Given the description of an element on the screen output the (x, y) to click on. 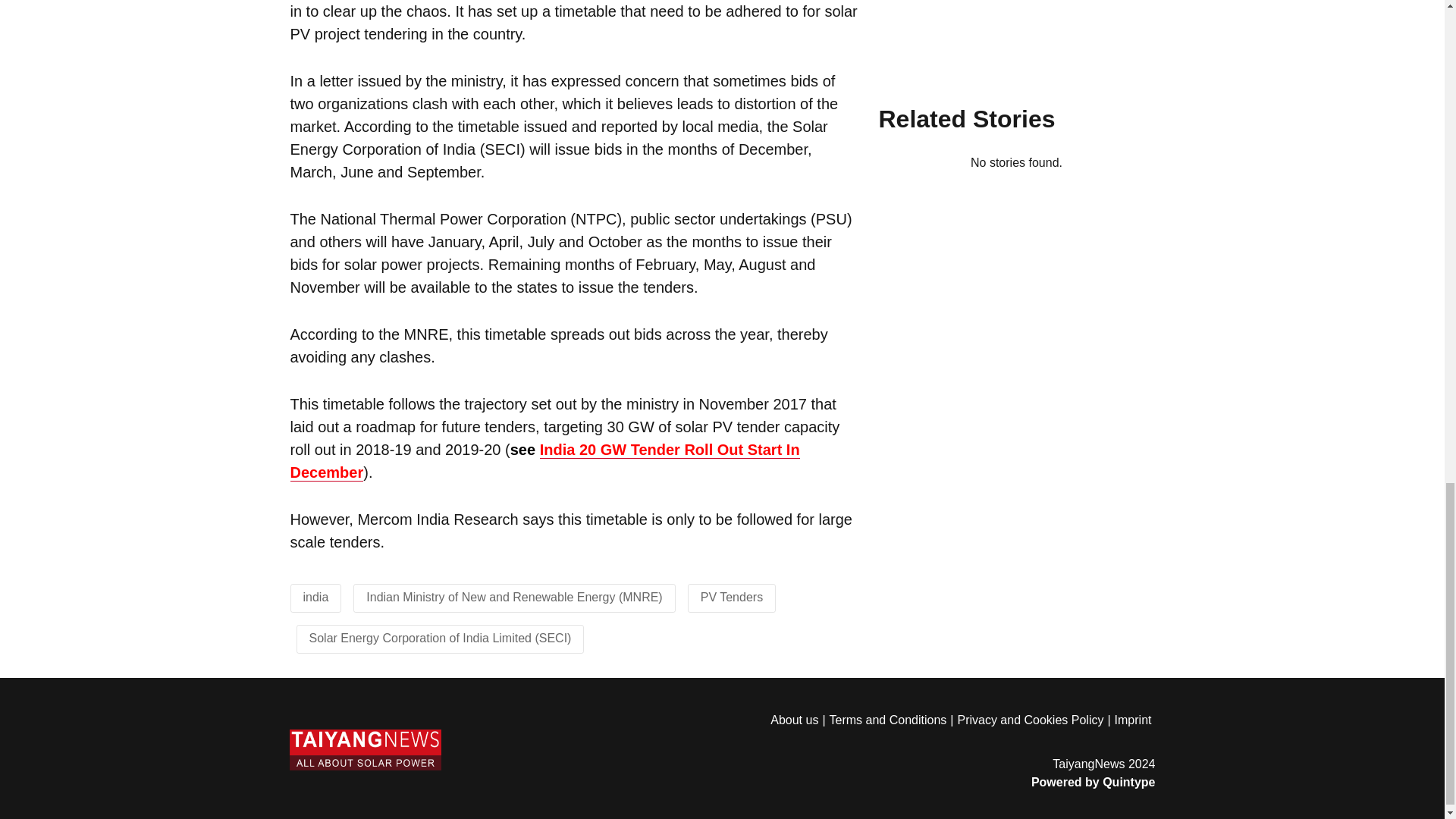
Powered by Quintype (962, 782)
Privacy and Cookies Policy (1034, 720)
About us (799, 720)
Imprint (1135, 720)
india (315, 596)
PV Tenders (731, 596)
India 20 GW Tender Roll Out Start In December (544, 461)
Terms and Conditions (893, 720)
